Given the description of an element on the screen output the (x, y) to click on. 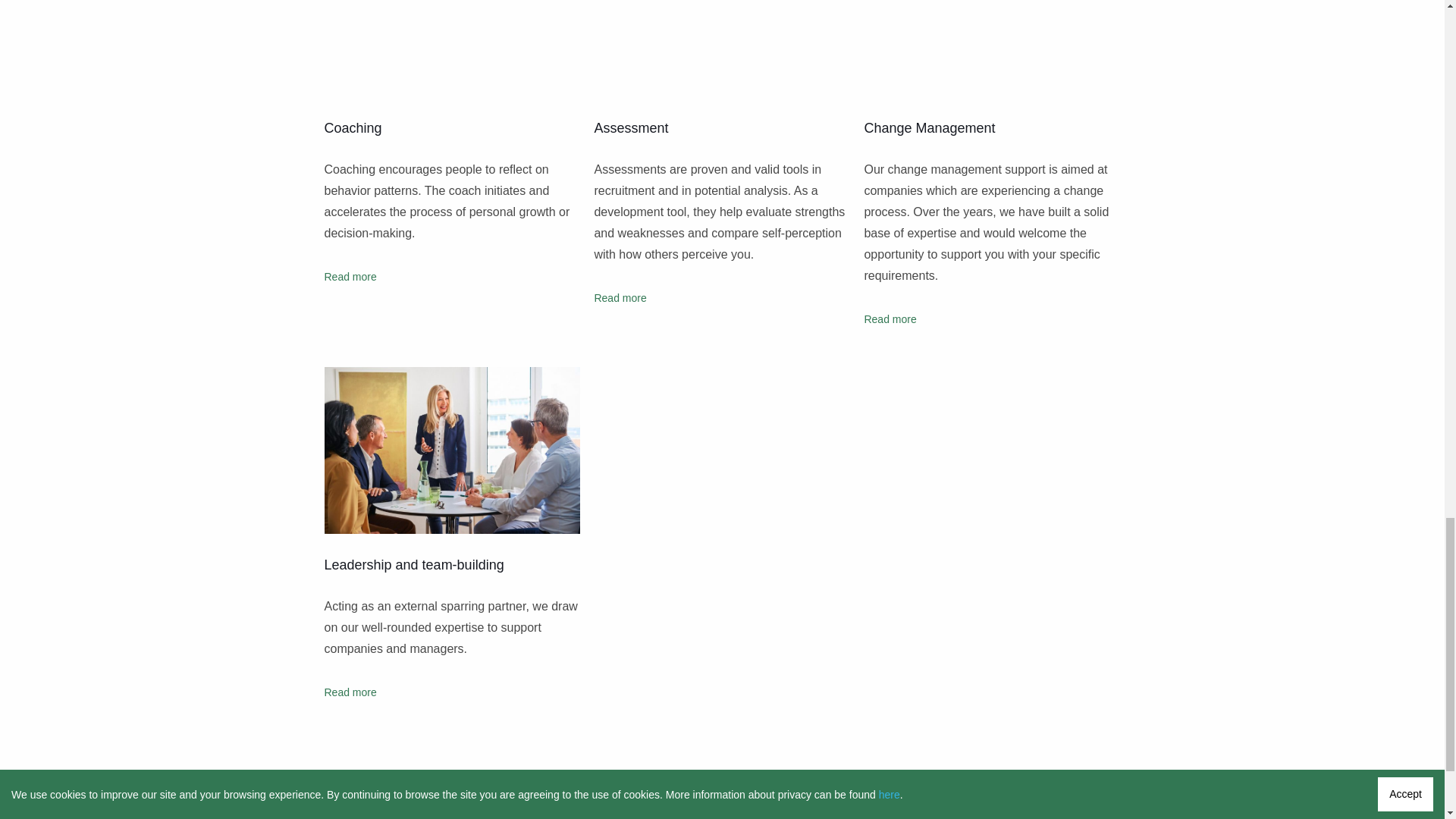
Read more (350, 276)
Read more (889, 318)
Read more (620, 297)
Read more (350, 692)
